Given the description of an element on the screen output the (x, y) to click on. 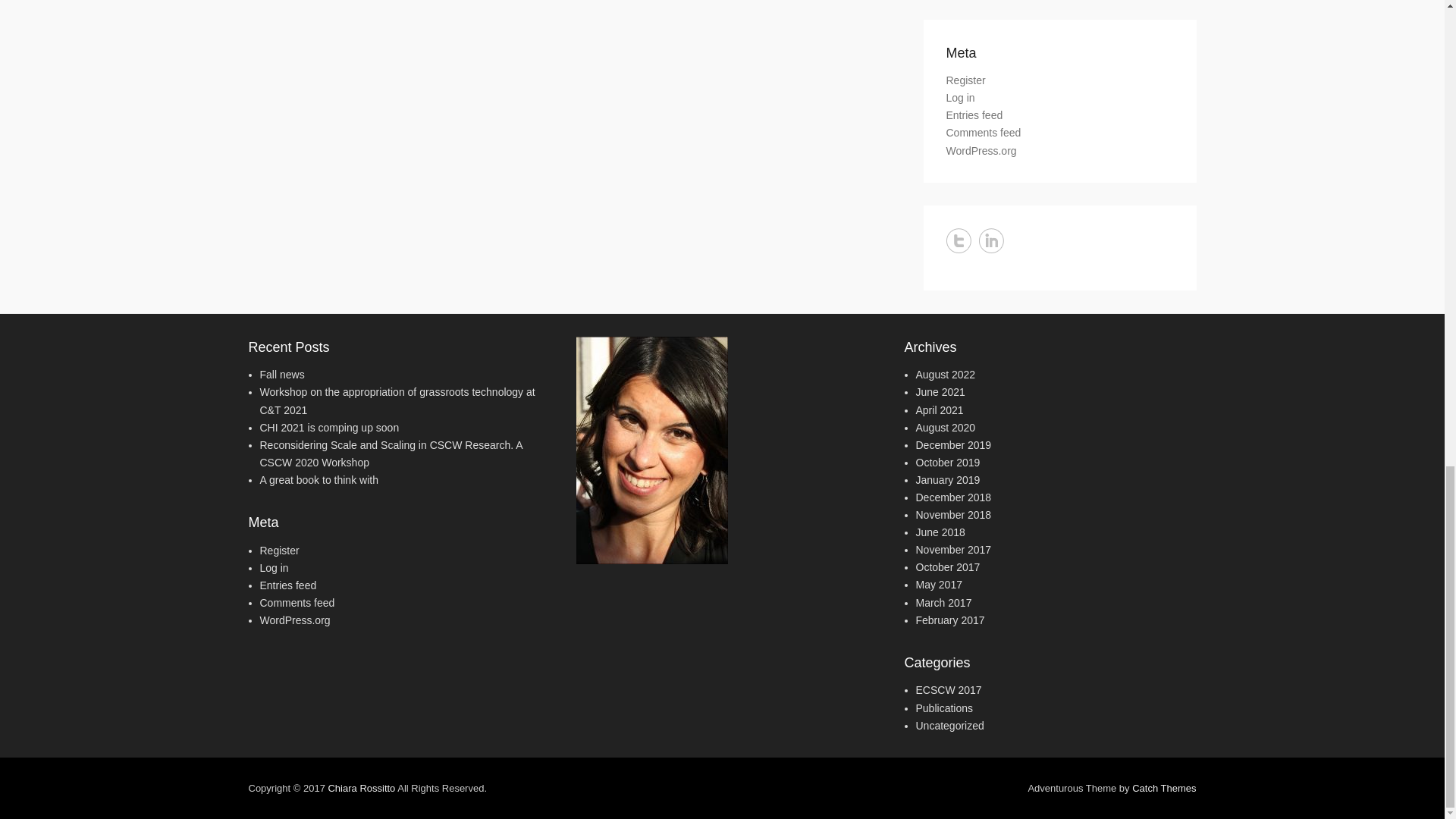
LinkedIn (990, 240)
Twitter (958, 240)
Chiara Rossitto (360, 787)
Catch Themes (1163, 787)
